Given the description of an element on the screen output the (x, y) to click on. 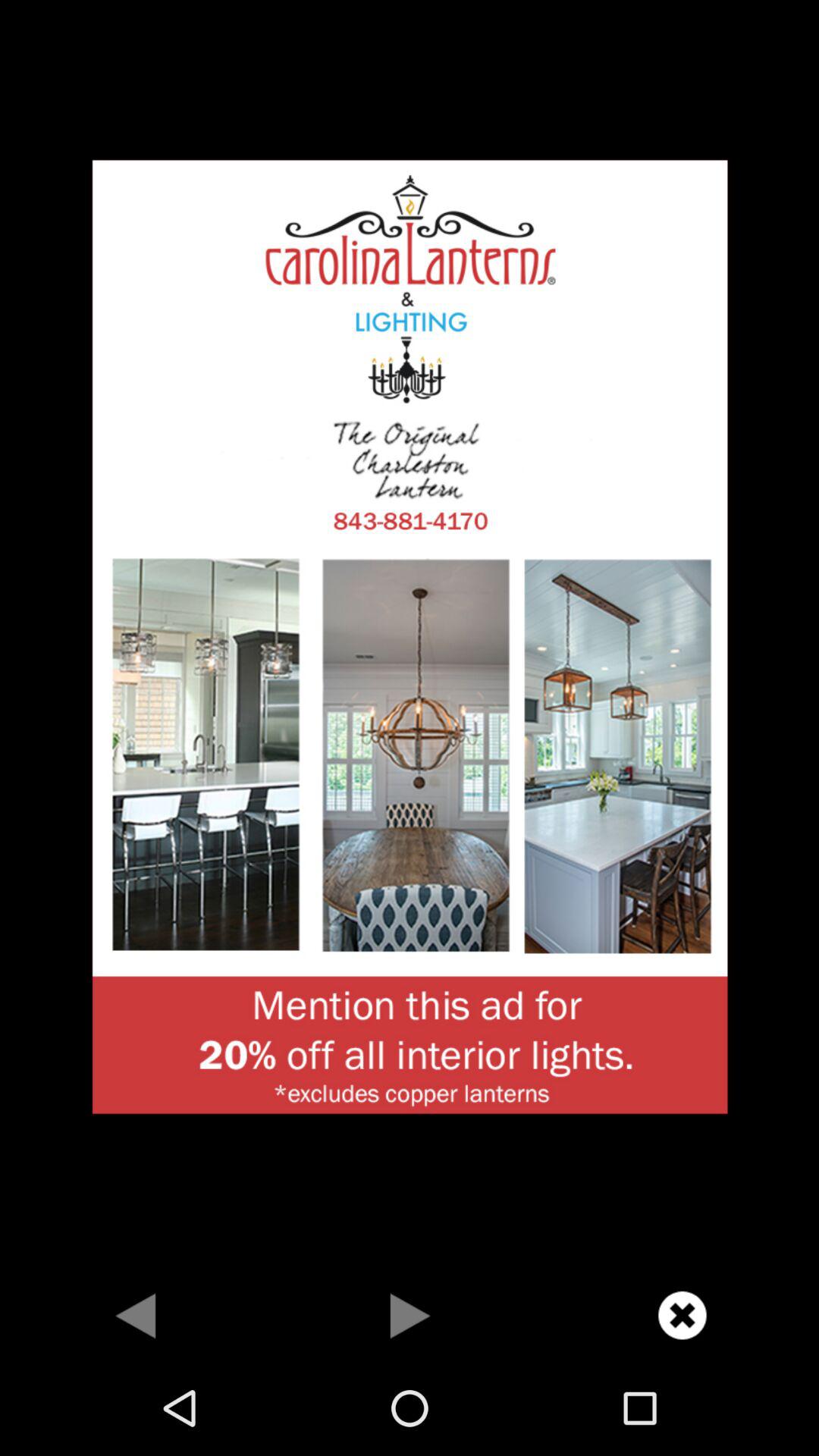
cl (682, 1315)
